Given the description of an element on the screen output the (x, y) to click on. 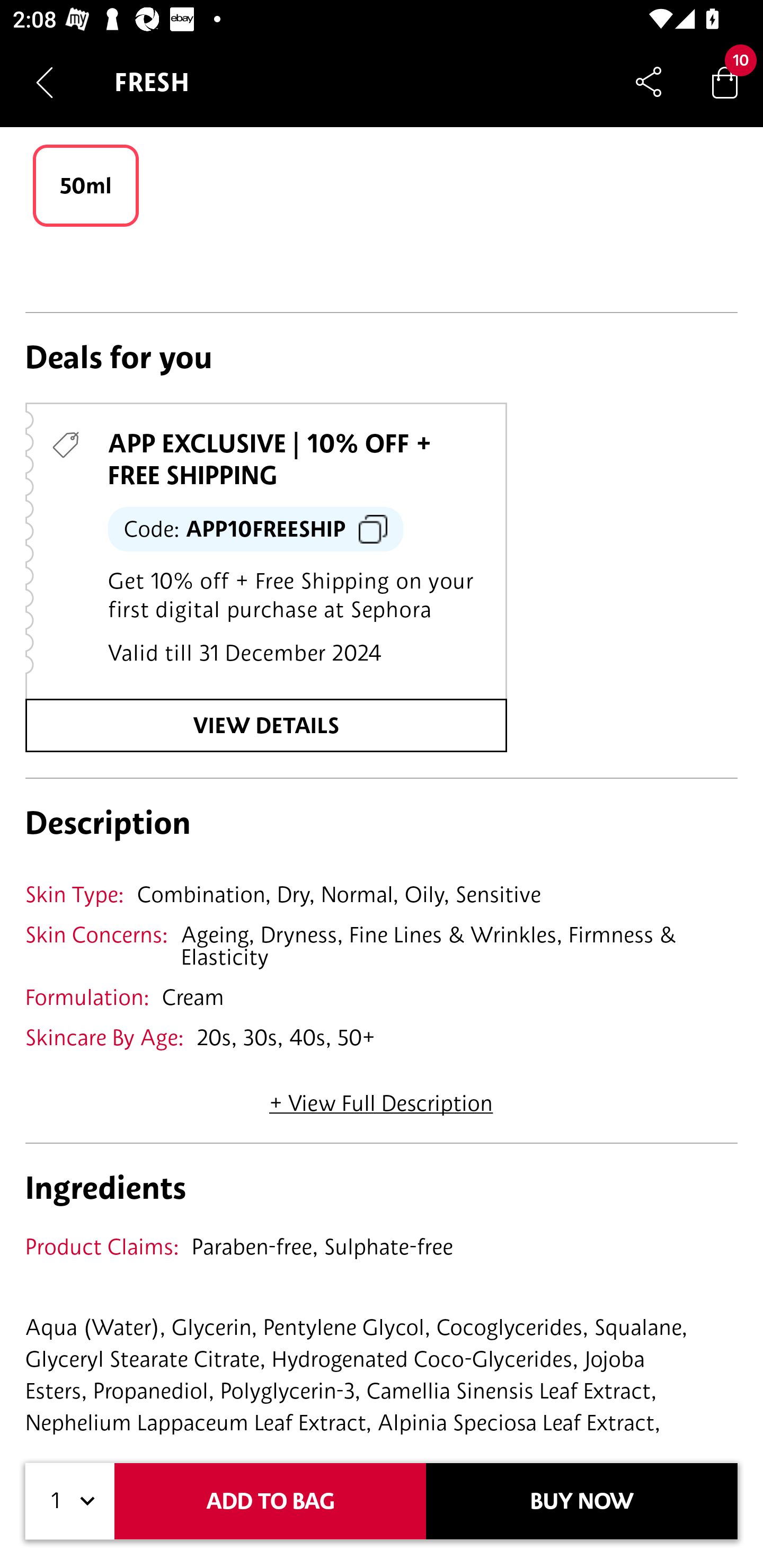
Navigate up (44, 82)
Share (648, 81)
Bag (724, 81)
50ml (85, 185)
VIEW DETAILS (266, 725)
+ View Full Description (380, 1096)
1 (69, 1500)
ADD TO BAG (269, 1500)
BUY NOW (581, 1500)
